Given the description of an element on the screen output the (x, y) to click on. 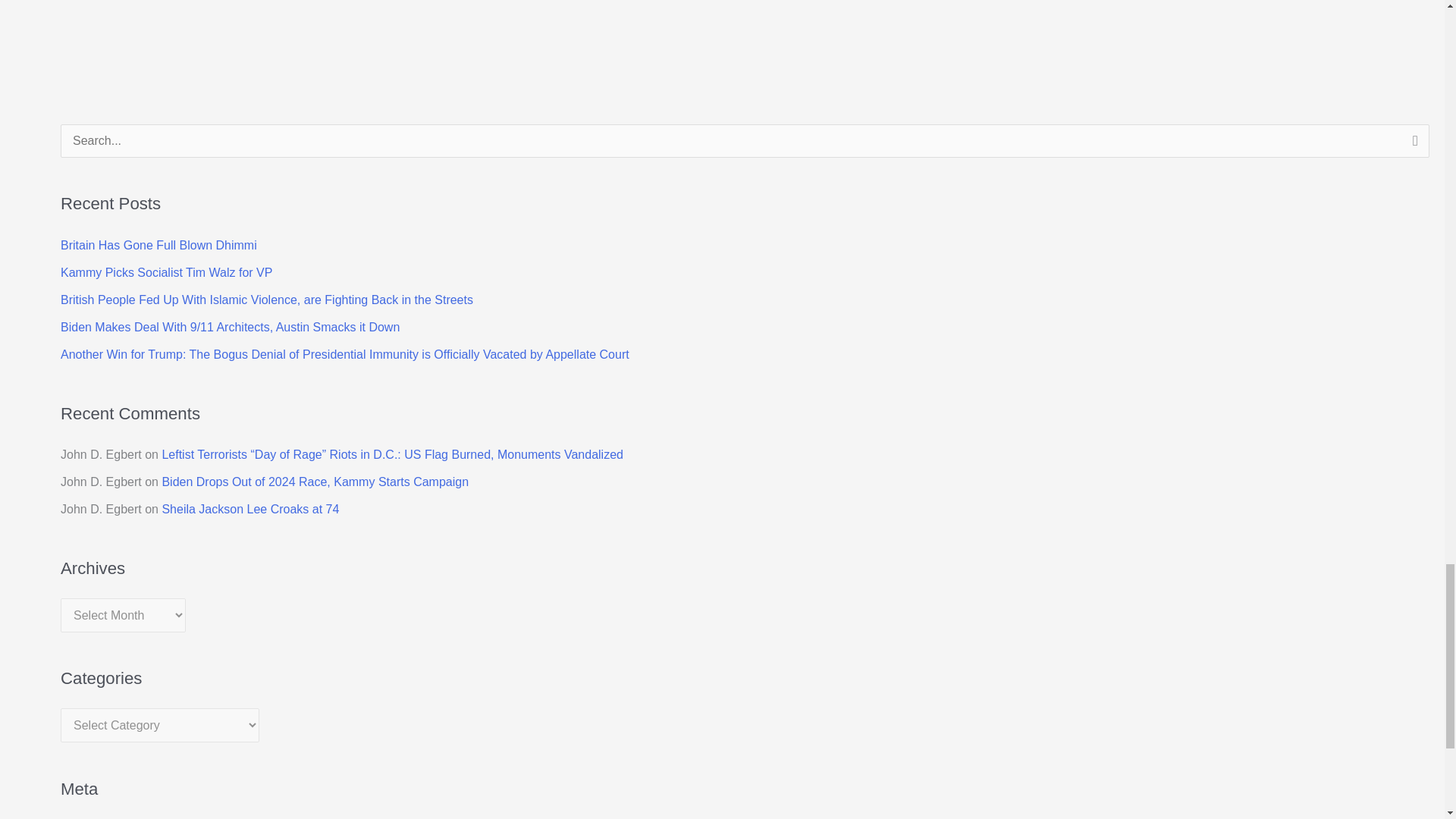
Britain Has Gone Full Blown Dhimmi (159, 245)
Kammy Picks Socialist Tim Walz for VP (166, 272)
